Given the description of an element on the screen output the (x, y) to click on. 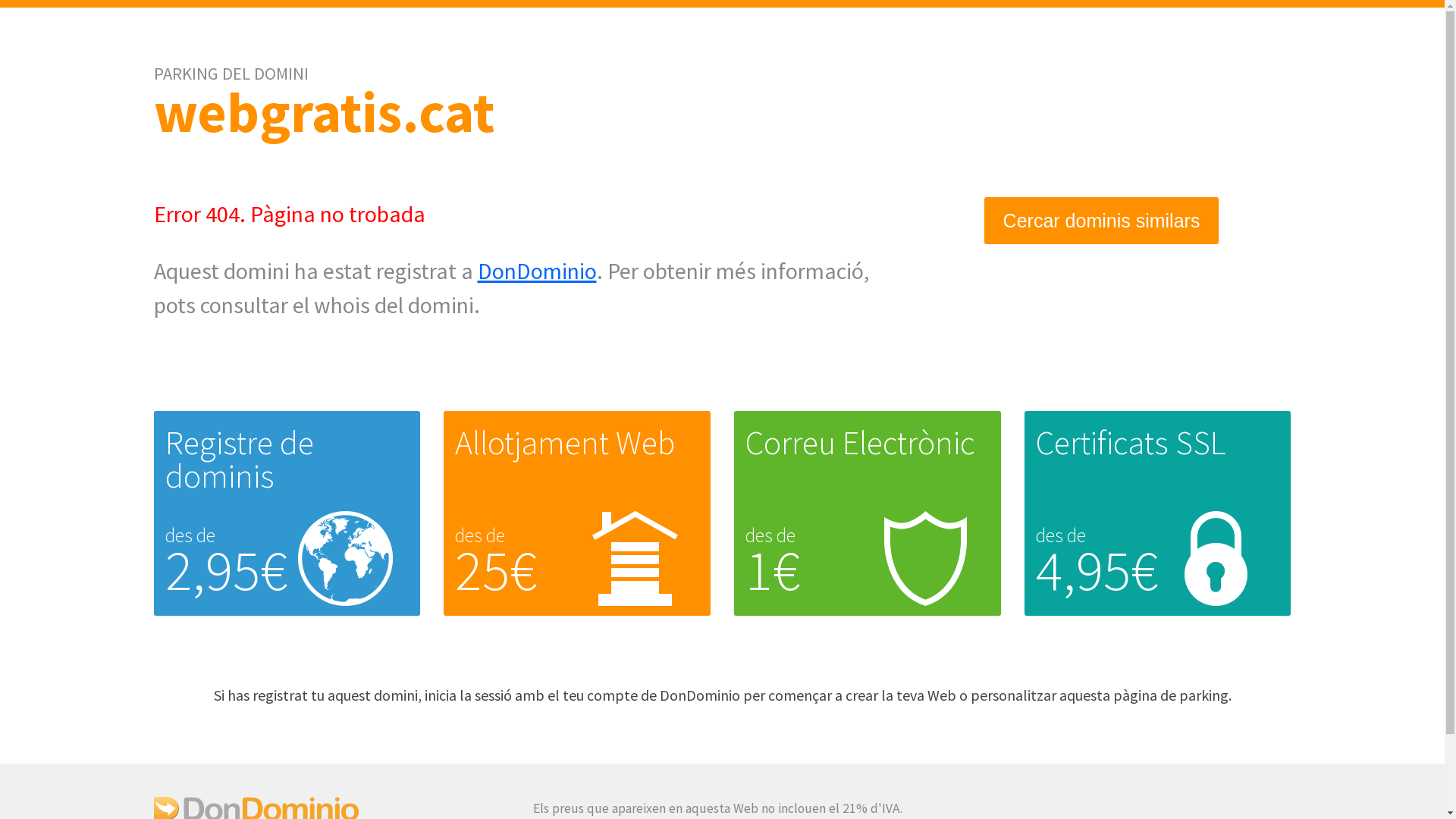
Cercar dominis similars Element type: text (1101, 220)
Registre de dominis Element type: text (239, 458)
DonDominio Element type: text (536, 270)
Certificats SSL Element type: text (1130, 442)
Allotjament Web Element type: text (564, 442)
